Given the description of an element on the screen output the (x, y) to click on. 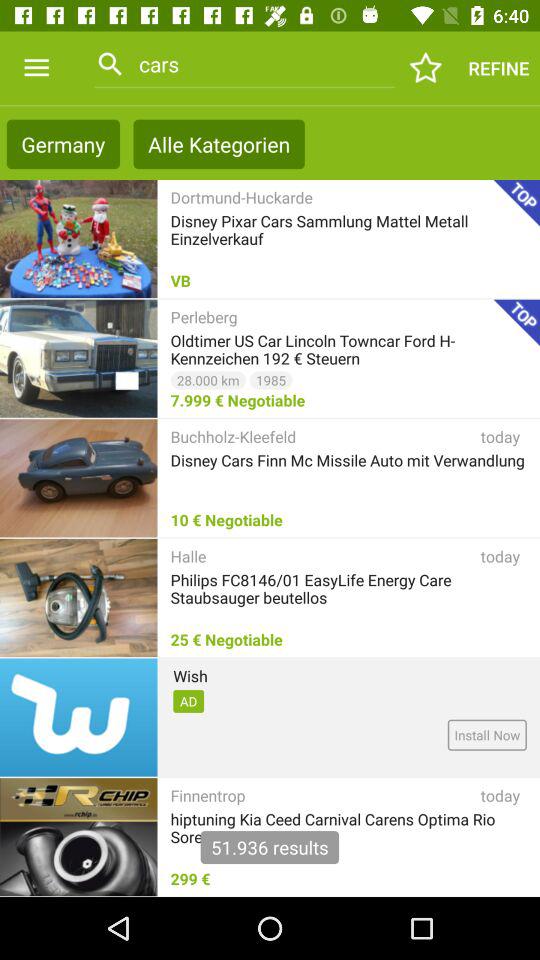
turn on the refine (498, 67)
